Given the description of an element on the screen output the (x, y) to click on. 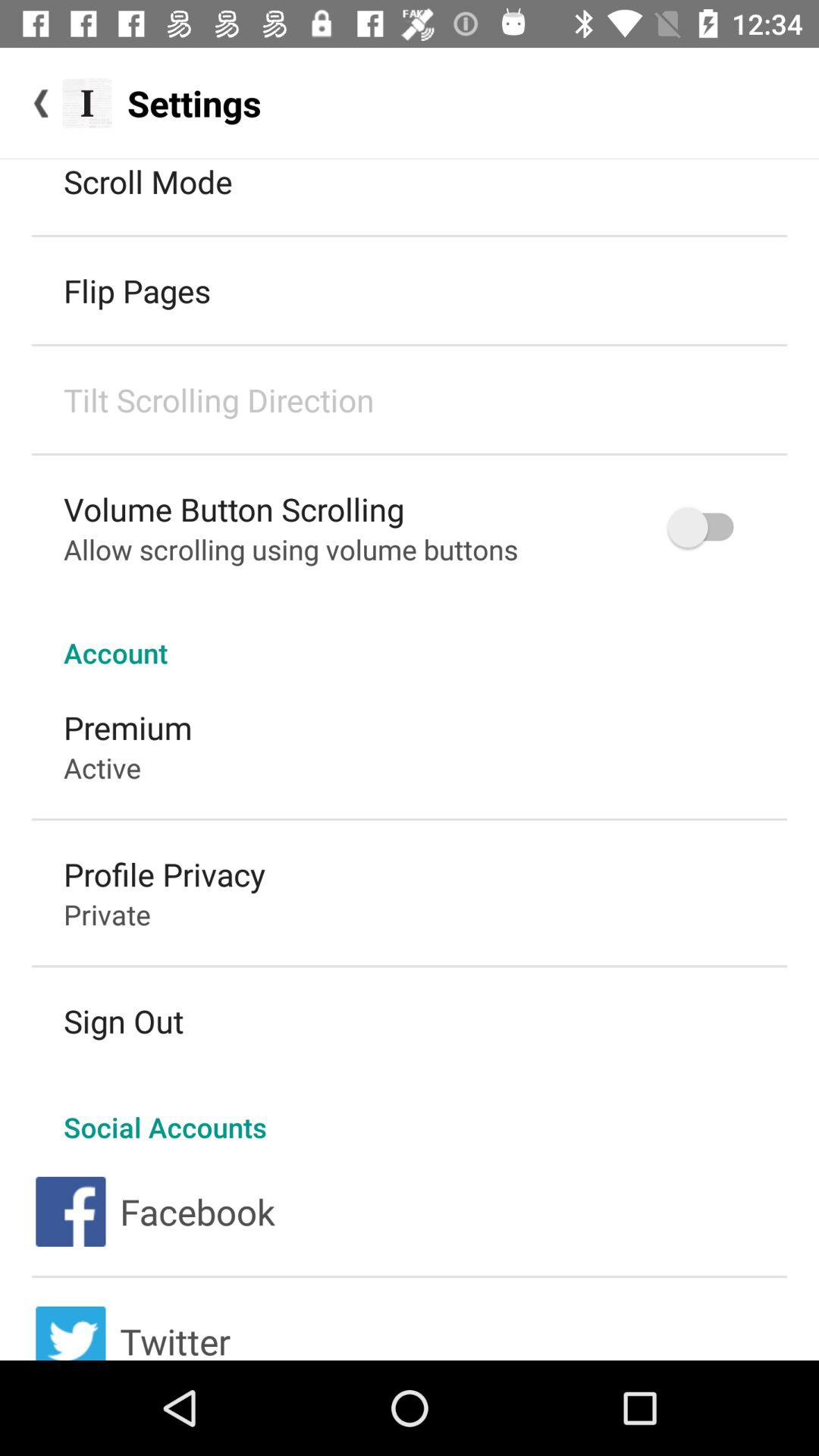
press the facebook icon (197, 1211)
